Given the description of an element on the screen output the (x, y) to click on. 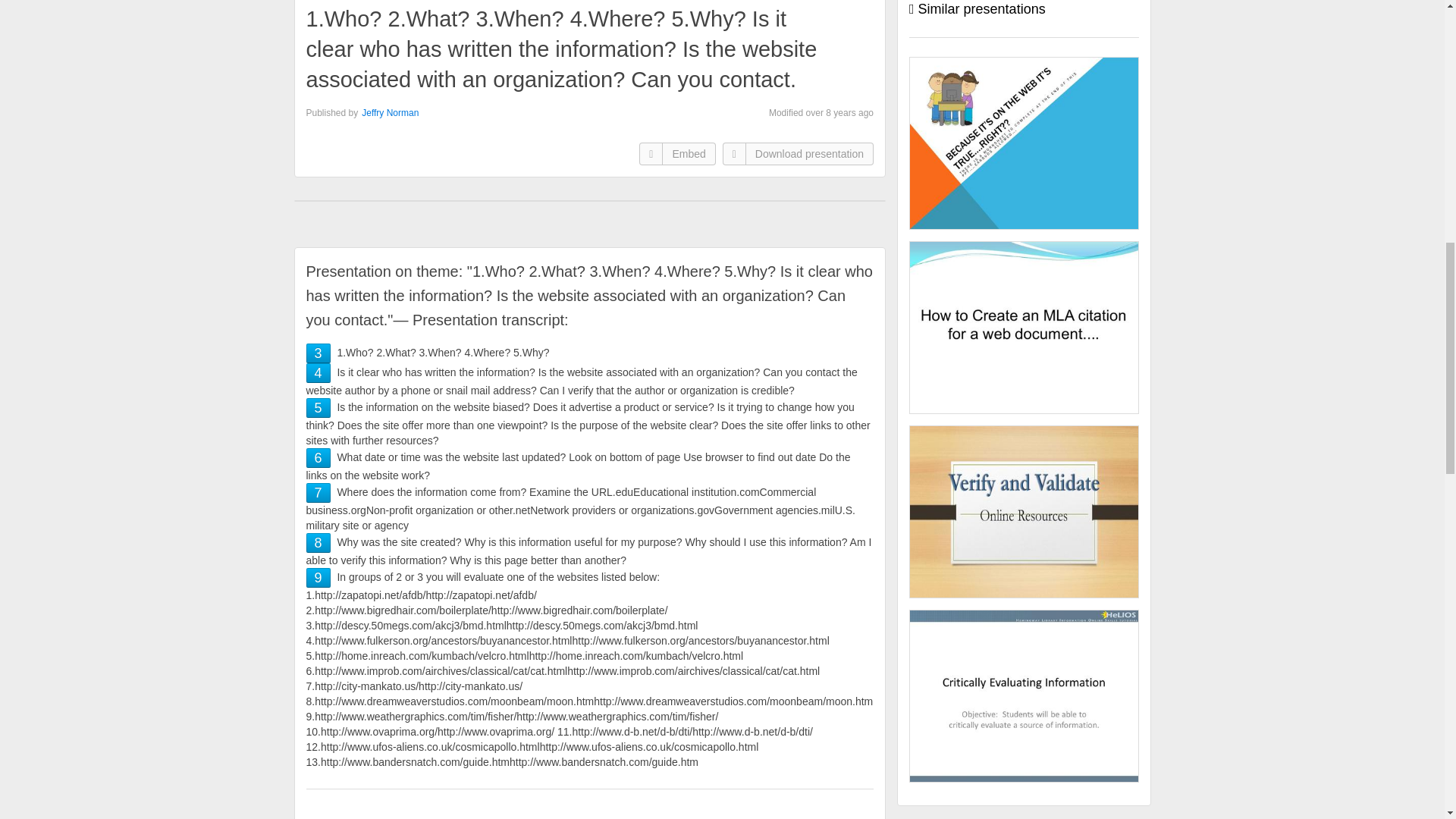
Jeffry Norman (390, 112)
